Given the description of an element on the screen output the (x, y) to click on. 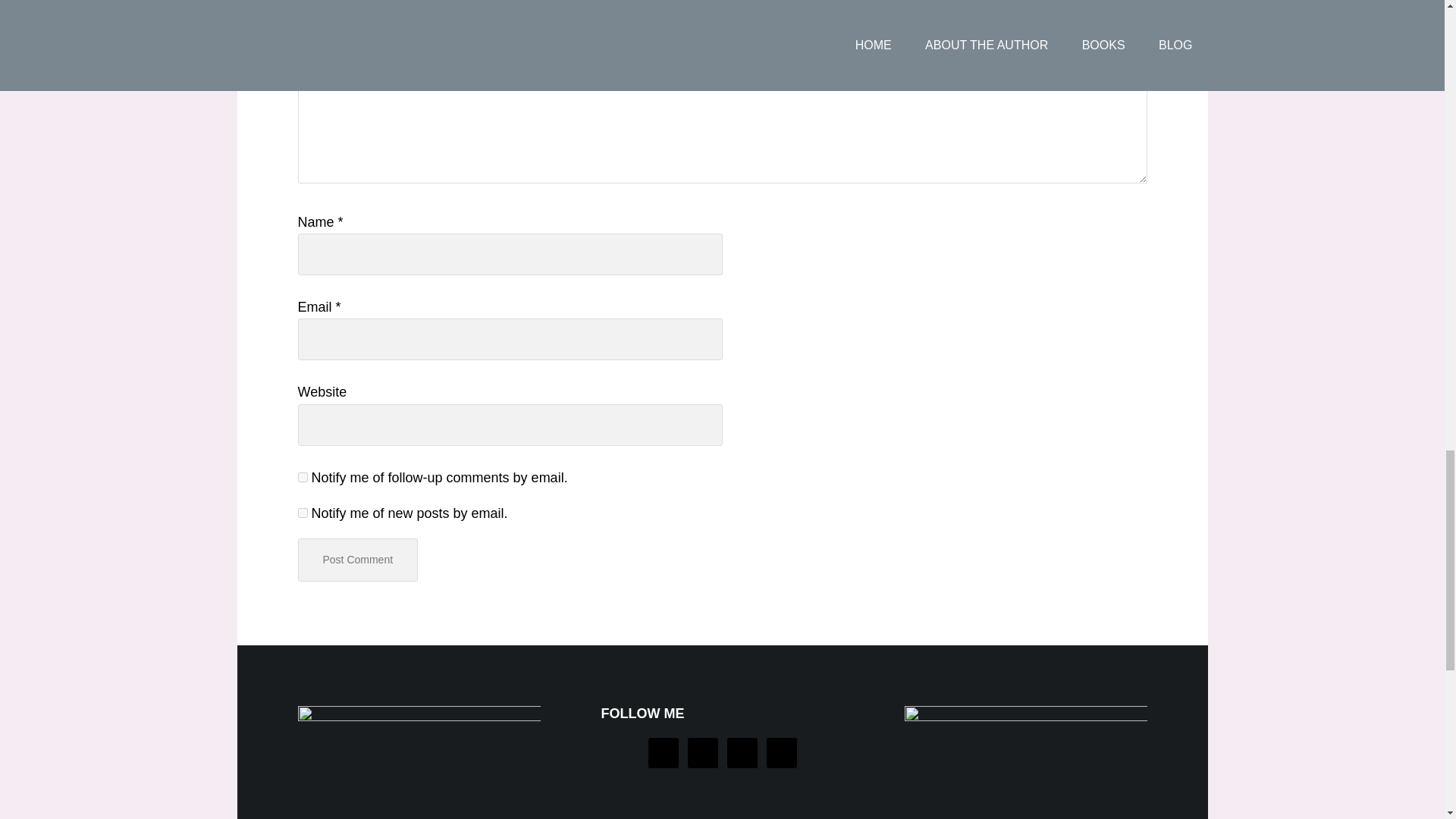
subscribe (302, 477)
subscribe (302, 512)
Post Comment (357, 559)
Post Comment (357, 559)
